Given the description of an element on the screen output the (x, y) to click on. 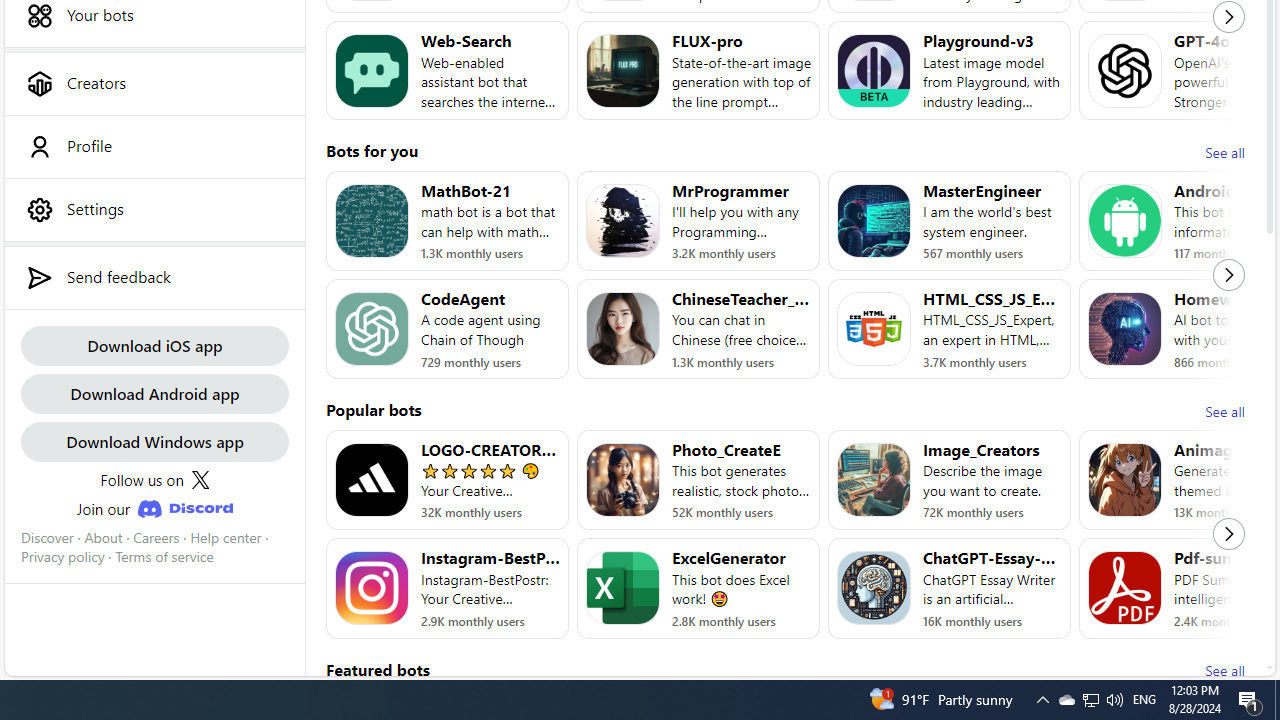
Bot image for GPT-4o (1124, 70)
Bot image for LOGO-CREATOR-AI (371, 480)
Send feedback (154, 277)
Next (1229, 533)
See all (1224, 670)
Download Android app (154, 392)
Class: JoinDiscordLink_discordIcon__Xw13A (184, 509)
Bot image for ChatGPT-Essay-Writer (874, 588)
Bot image for CodeAgent (371, 329)
Careers (156, 537)
